Given the description of an element on the screen output the (x, y) to click on. 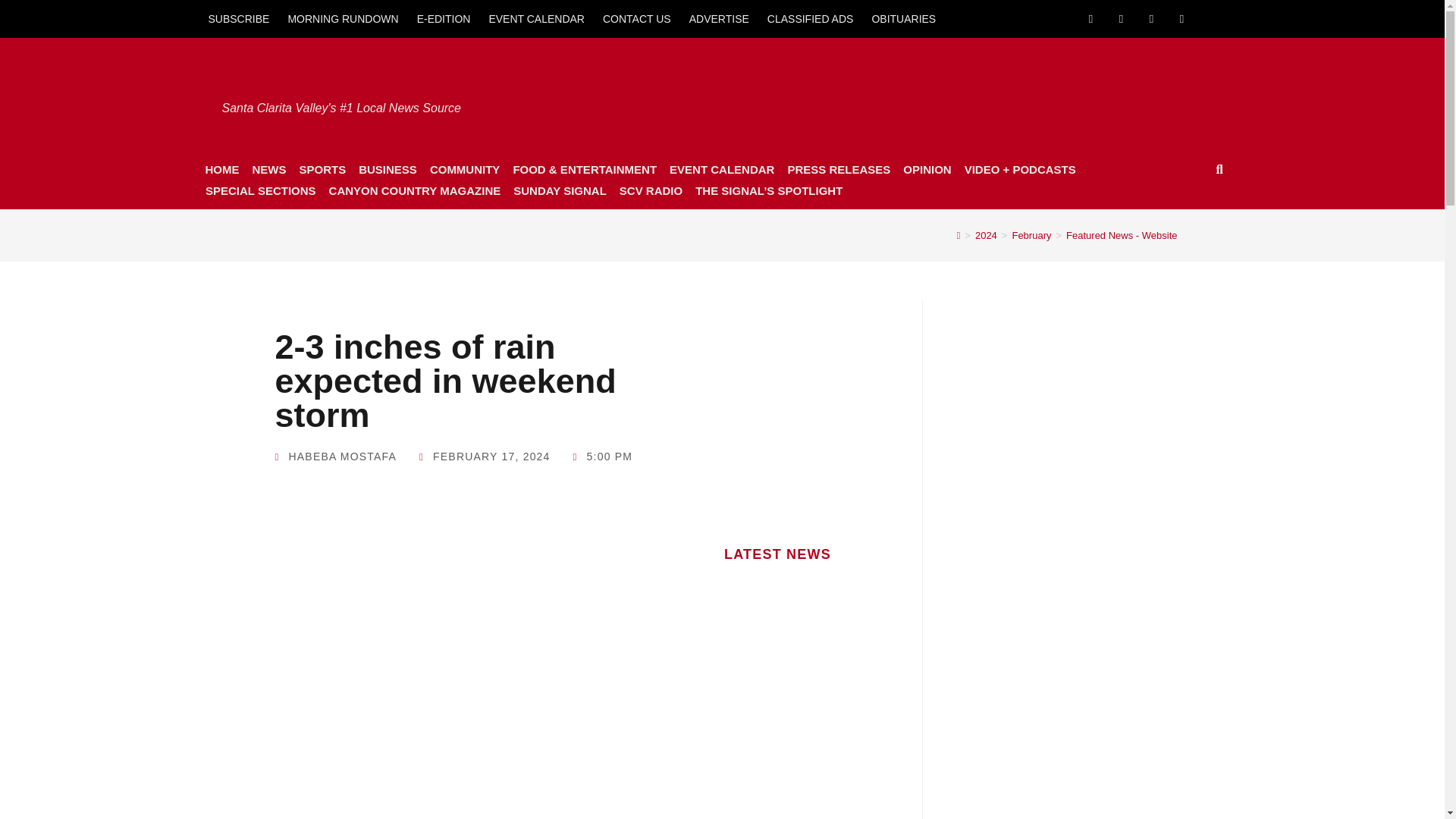
SUBSCRIBE (238, 18)
CONTACT US (636, 18)
MORNING RUNDOWN (342, 18)
EVENT CALENDAR (536, 18)
ADVERTISE (718, 18)
NEWS (269, 169)
CLASSIFIED ADS (810, 18)
E-EDITION (443, 18)
SPORTS (322, 169)
HOME (221, 169)
OBITUARIES (902, 18)
